Given the description of an element on the screen output the (x, y) to click on. 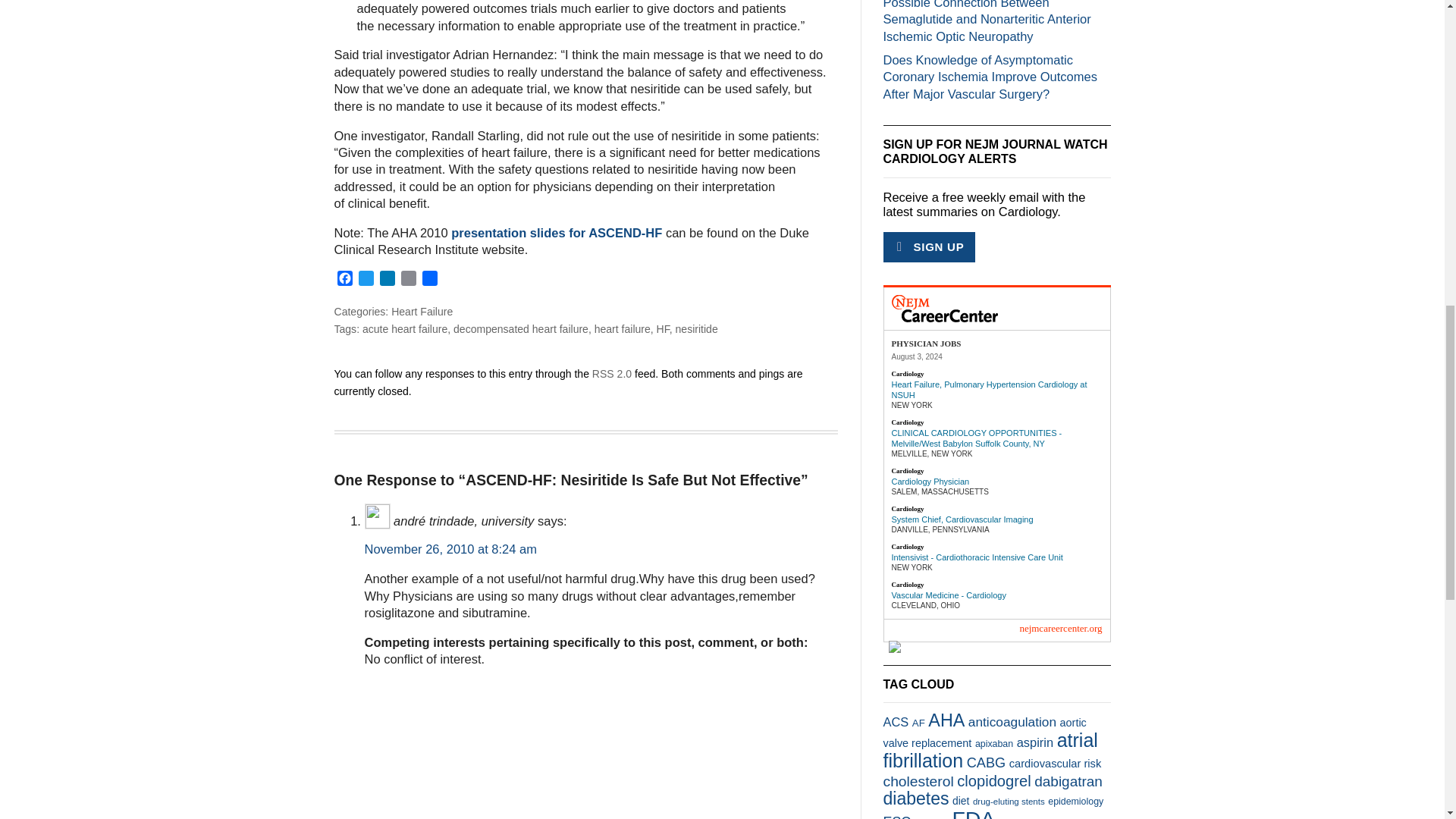
FACEBOOK (344, 281)
LinkedIn (386, 281)
Facebook (344, 281)
Twitter (365, 281)
Email (408, 281)
presentation slides for ASCEND-HF (556, 232)
